Given the description of an element on the screen output the (x, y) to click on. 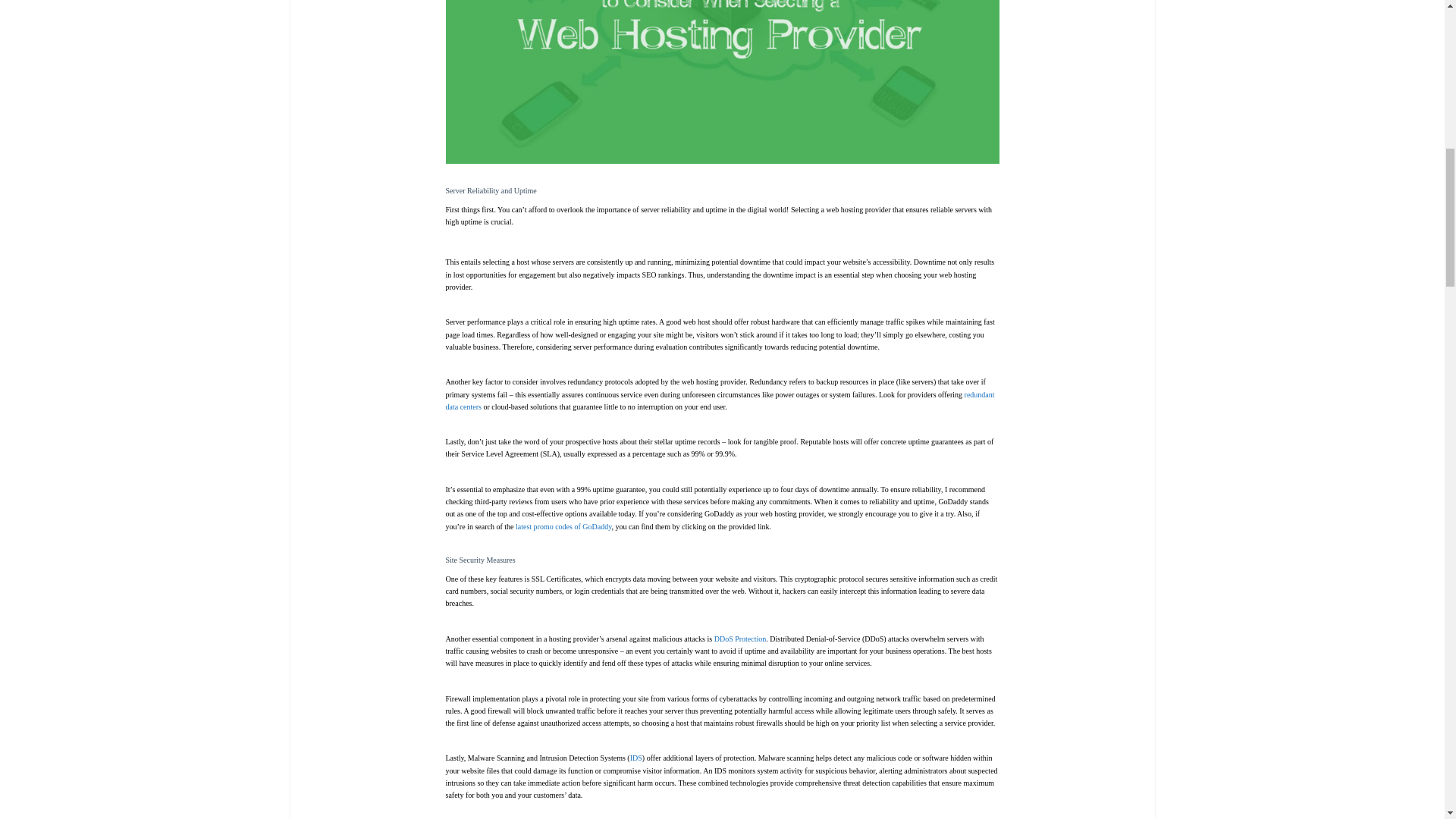
redundant data centers (719, 400)
IDS (636, 757)
DDoS Protection (740, 638)
latest promo codes of GoDaddy (563, 526)
